Given the description of an element on the screen output the (x, y) to click on. 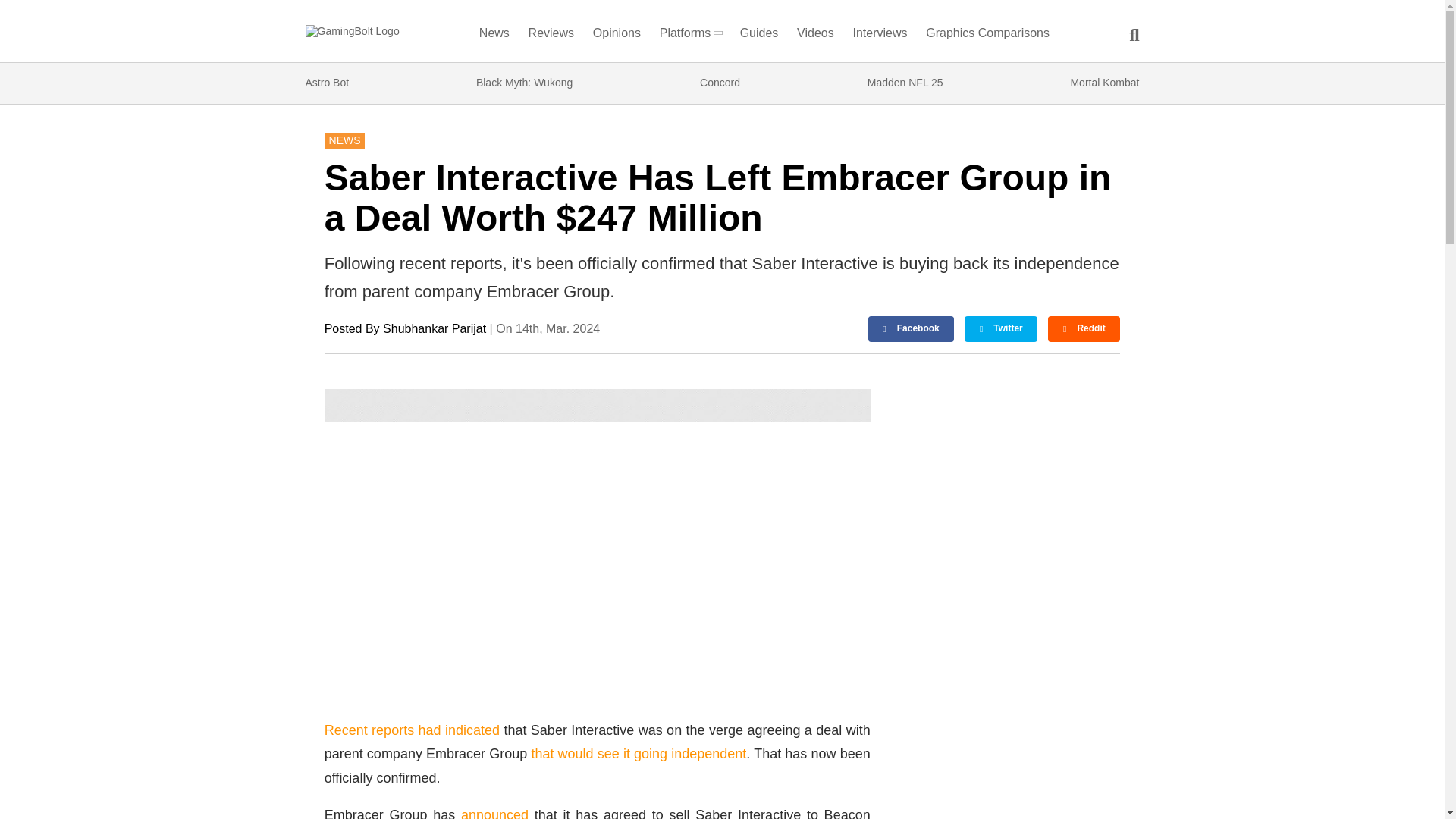
Reddit (1083, 329)
Shubhankar Parijat (434, 328)
NEWS (345, 140)
Black Myth: Wukong (524, 82)
Mortal Kombat (1104, 82)
Opinions (617, 36)
Concord (719, 82)
Platforms (690, 36)
Recent reports had indicated (411, 729)
News (494, 36)
